Given the description of an element on the screen output the (x, y) to click on. 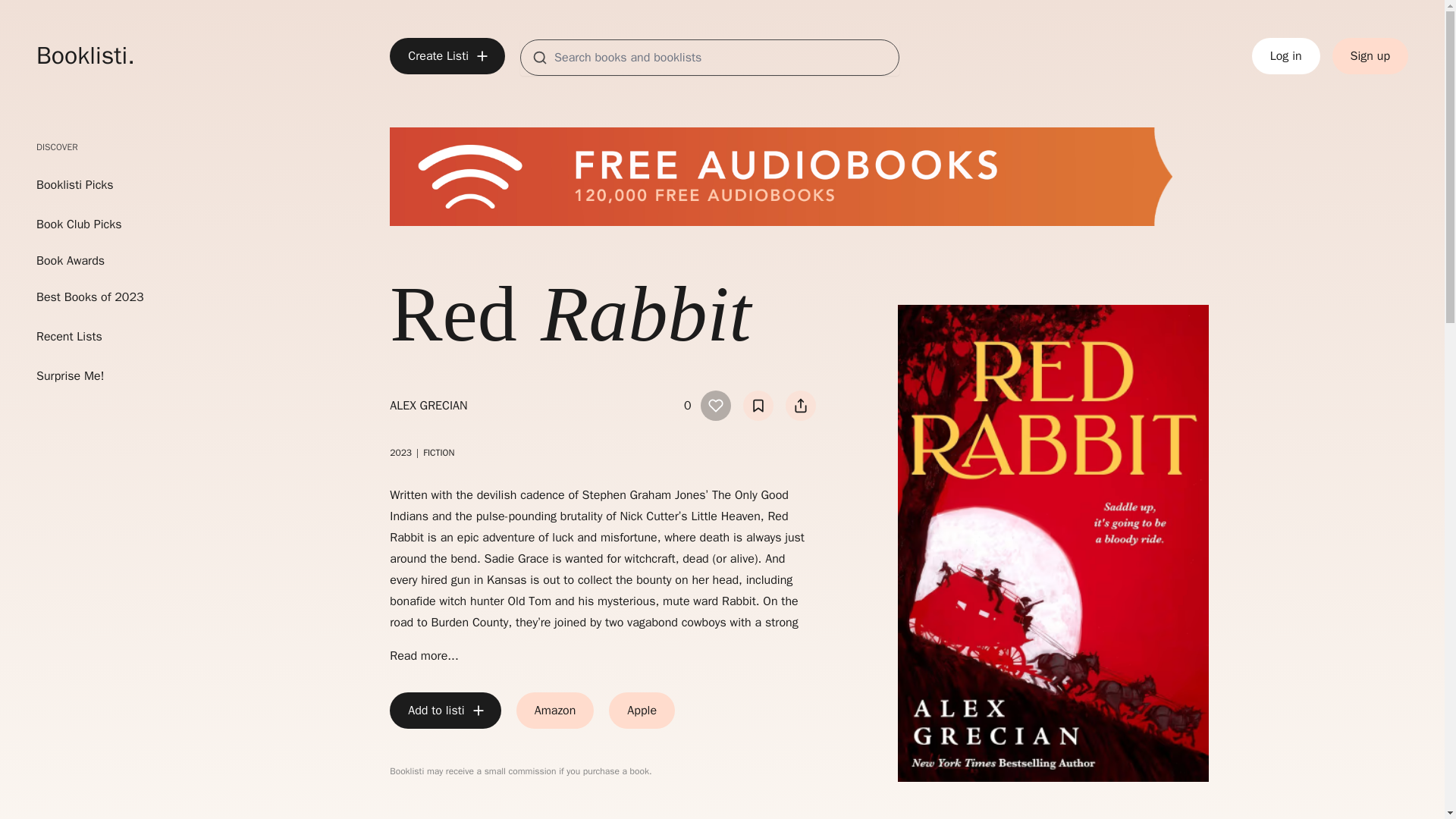
Amazon (555, 710)
Sign up (1369, 55)
Book Awards (90, 260)
Book Club Picks (90, 224)
Create Listi (447, 55)
Booklisti. (85, 55)
Apple (641, 710)
Best Books of 2023 (90, 297)
Booklisti Picks (74, 184)
Add to listi (445, 710)
Surprise Me! (90, 375)
Log in (1286, 55)
Recent Lists (90, 336)
